Given the description of an element on the screen output the (x, y) to click on. 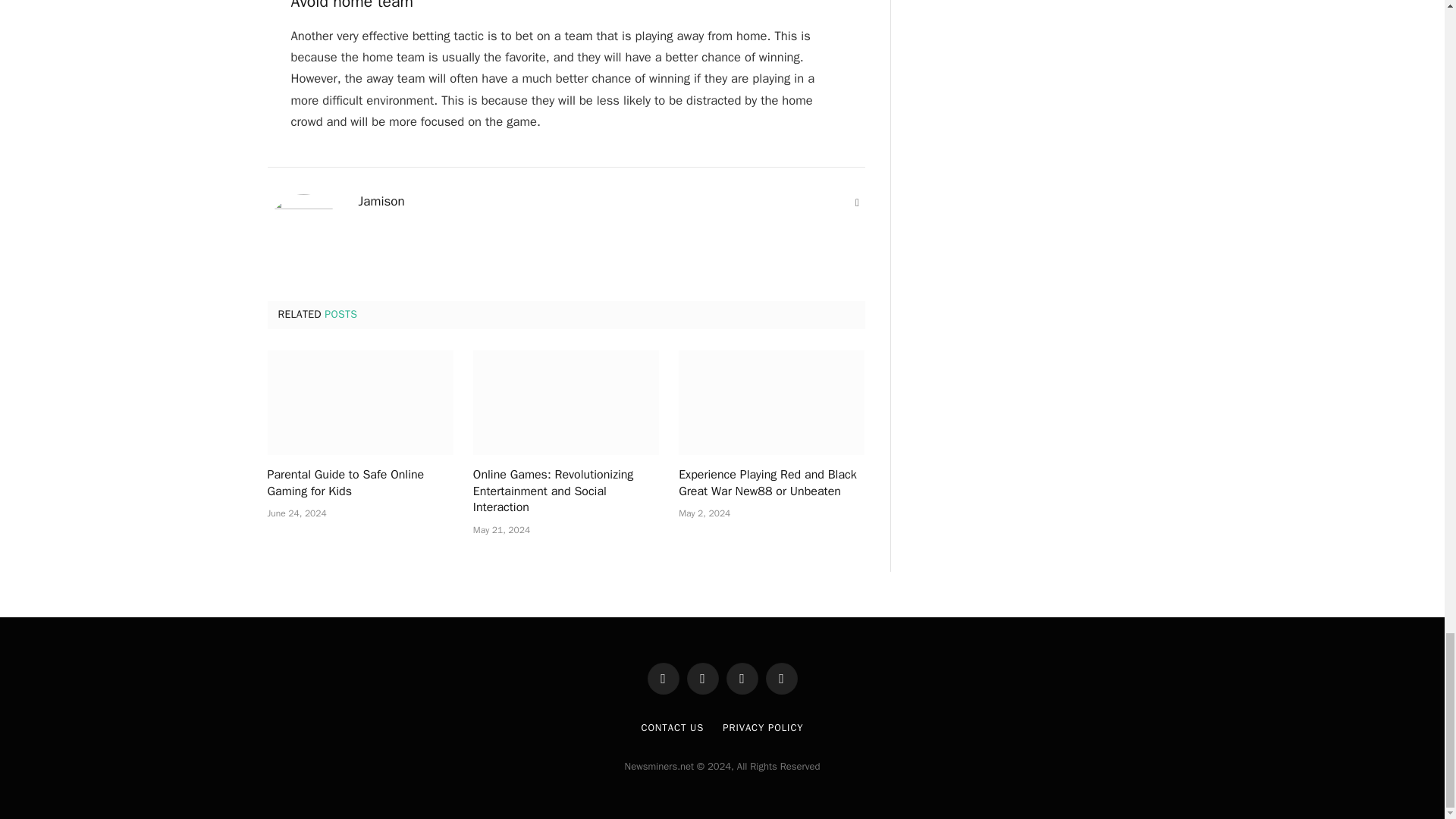
Jamison (381, 201)
Website (856, 202)
Parental Guide to Safe Online Gaming for Kids (359, 483)
